Given the description of an element on the screen output the (x, y) to click on. 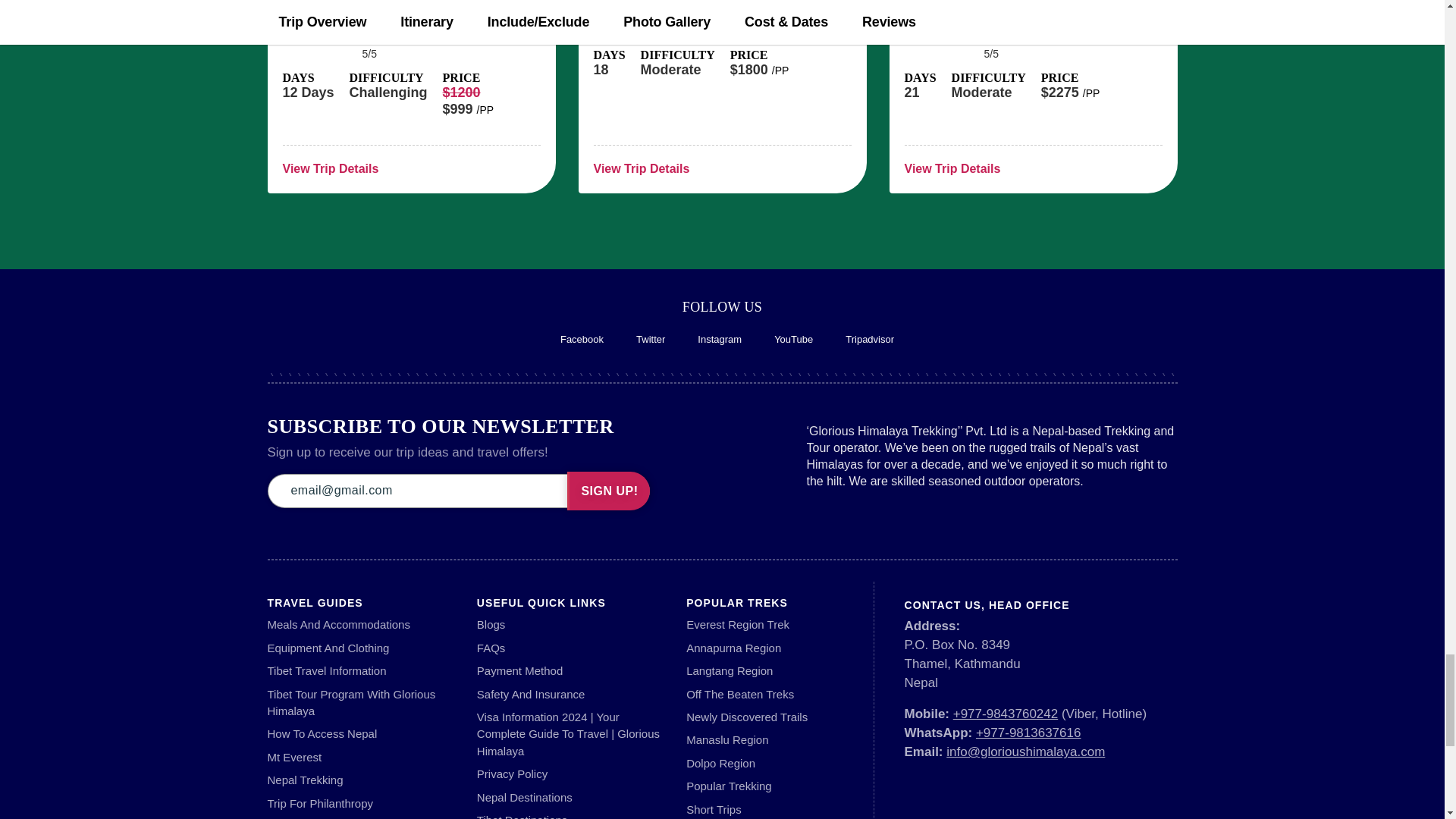
Sign Up! (608, 491)
